Given the description of an element on the screen output the (x, y) to click on. 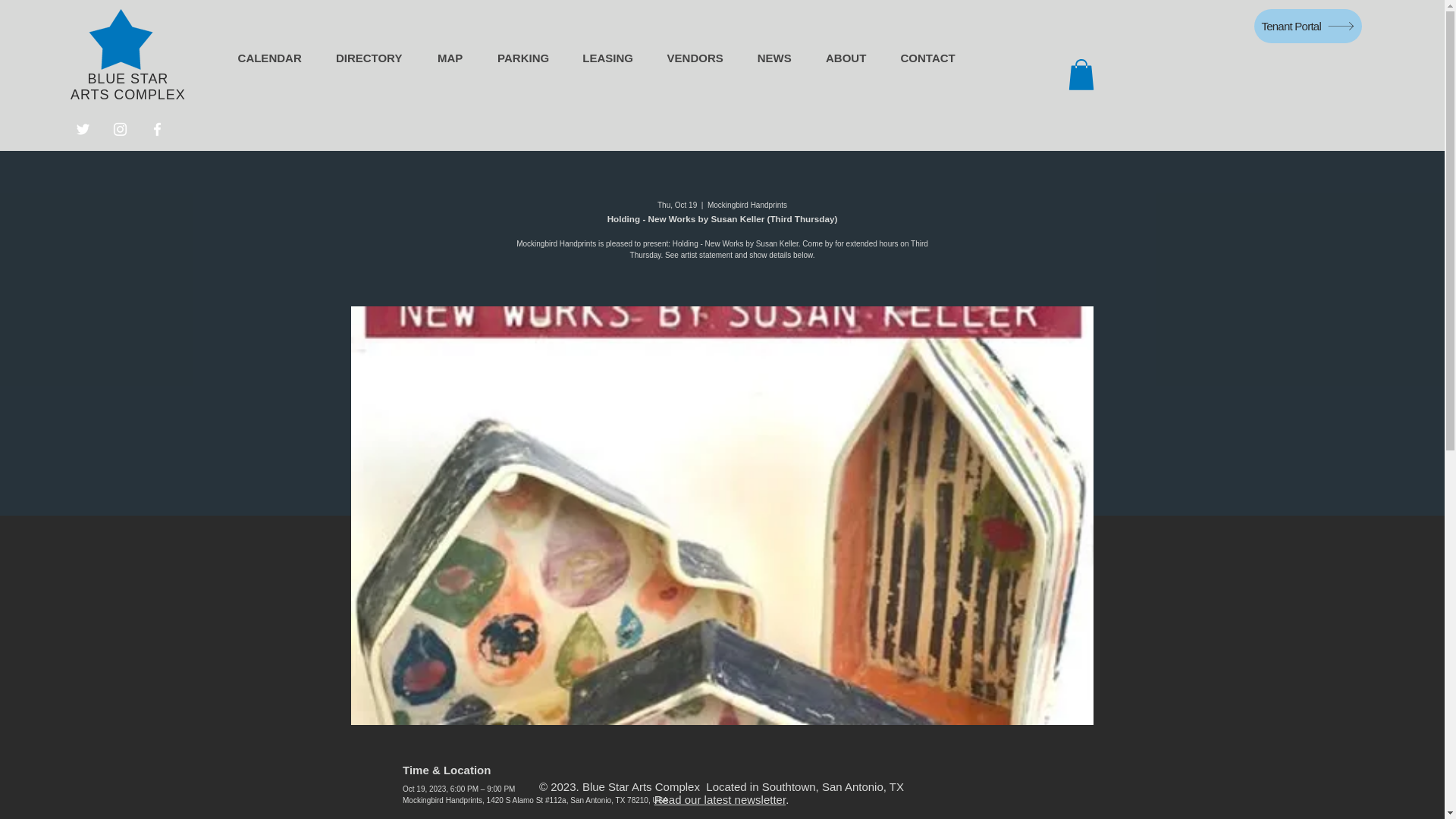
LEASING (607, 57)
NEWS (773, 57)
VENDORS (694, 57)
CALENDAR (269, 57)
MAP (449, 57)
Tenant Portal (1307, 26)
DIRECTORY (368, 57)
CONTACT (927, 57)
ABOUT (845, 57)
PARKING (523, 57)
